Given the description of an element on the screen output the (x, y) to click on. 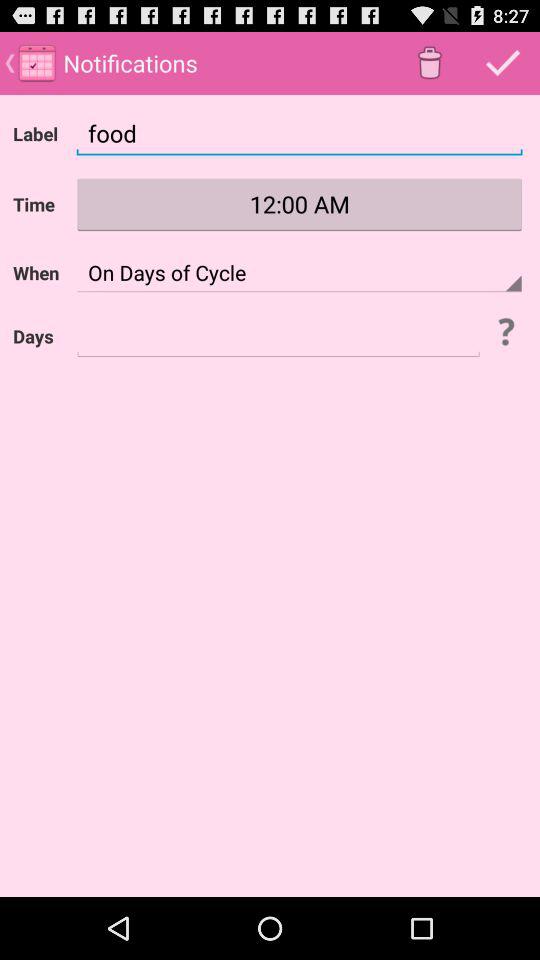
go to food (299, 133)
click on bin icon (430, 63)
select 1200 am which is after time on the page (299, 204)
select tick or done button which is after delete button on page (503, 63)
